Given the description of an element on the screen output the (x, y) to click on. 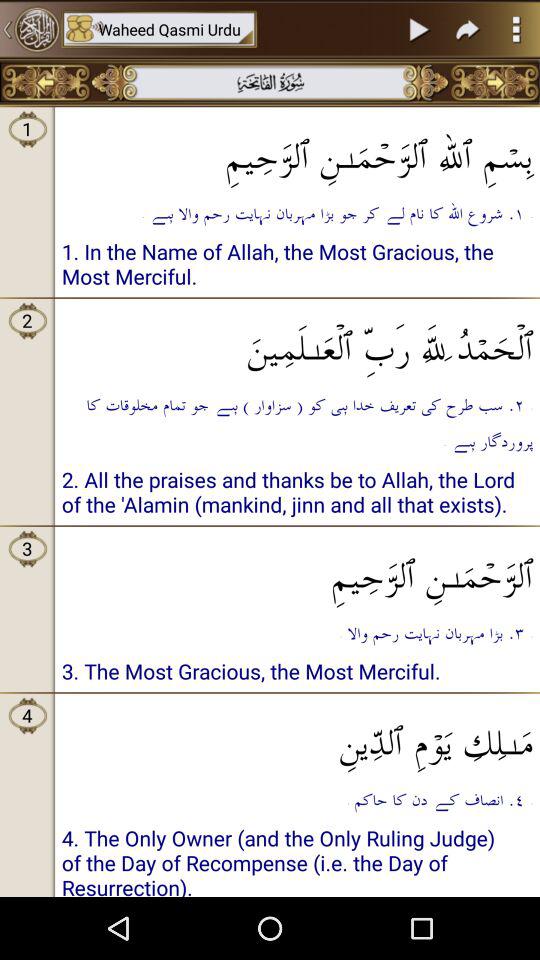
back (45, 82)
